Given the description of an element on the screen output the (x, y) to click on. 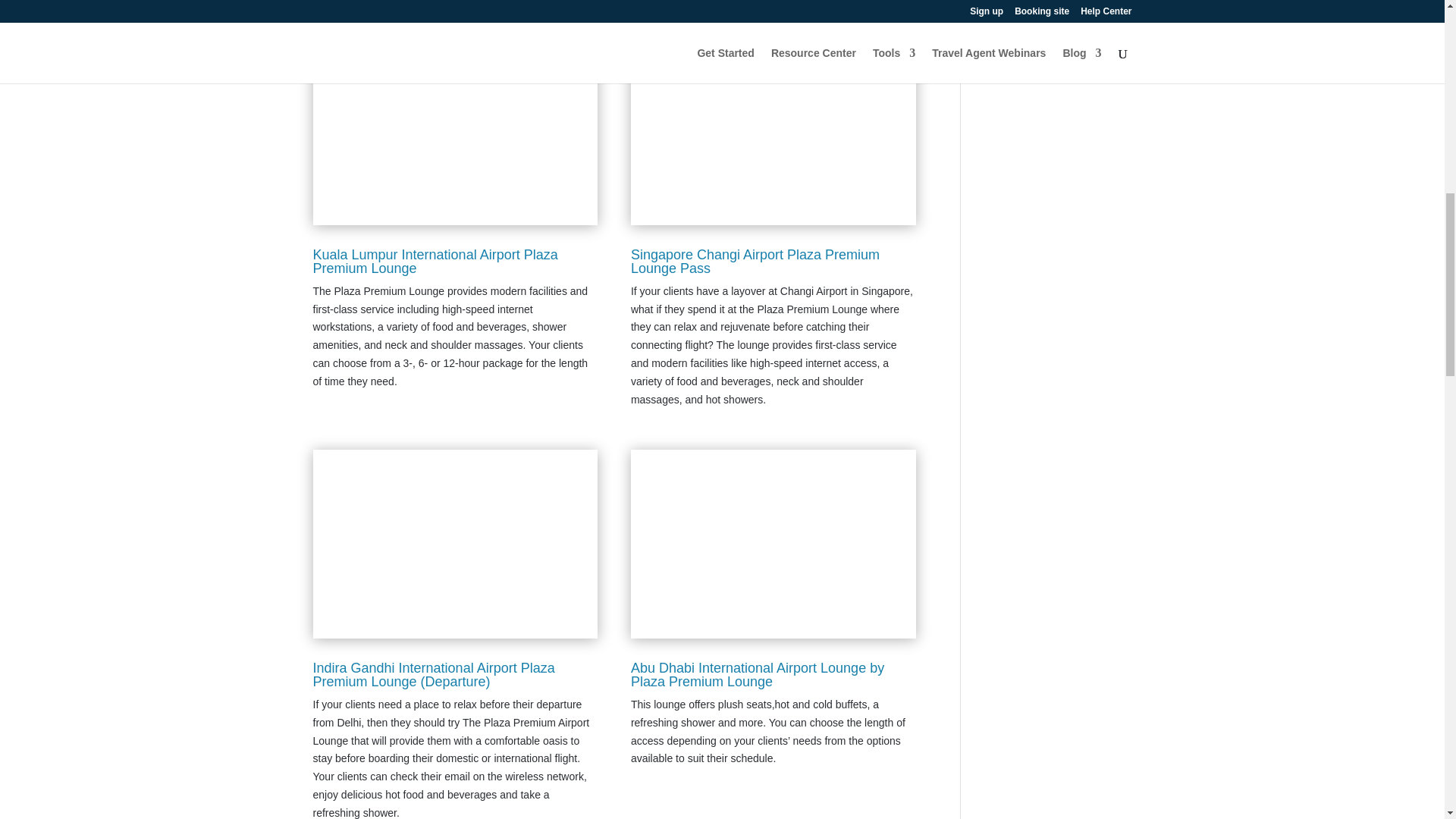
Kuala Lumpur International Airport Plaza Premium Lounge (435, 261)
Singapore Changi Airport Plaza Premium Lounge Pass (754, 261)
